Given the description of an element on the screen output the (x, y) to click on. 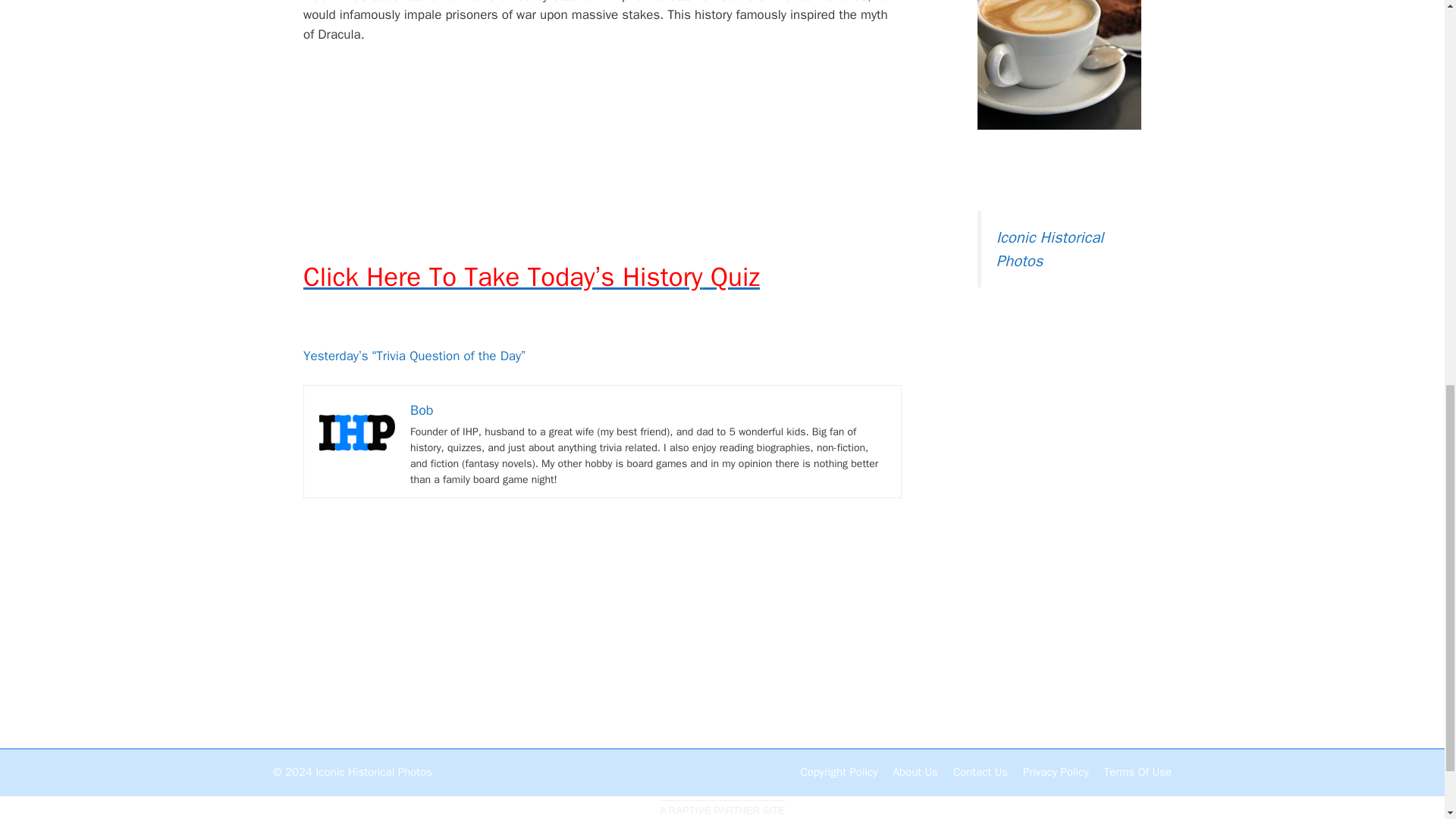
About Us (915, 771)
Copyright Policy (838, 771)
Terms Of Use (1137, 771)
Contact Us (980, 771)
Privacy Policy (1056, 771)
Bob (421, 410)
Iconic Historical Photos (1049, 249)
